Given the description of an element on the screen output the (x, y) to click on. 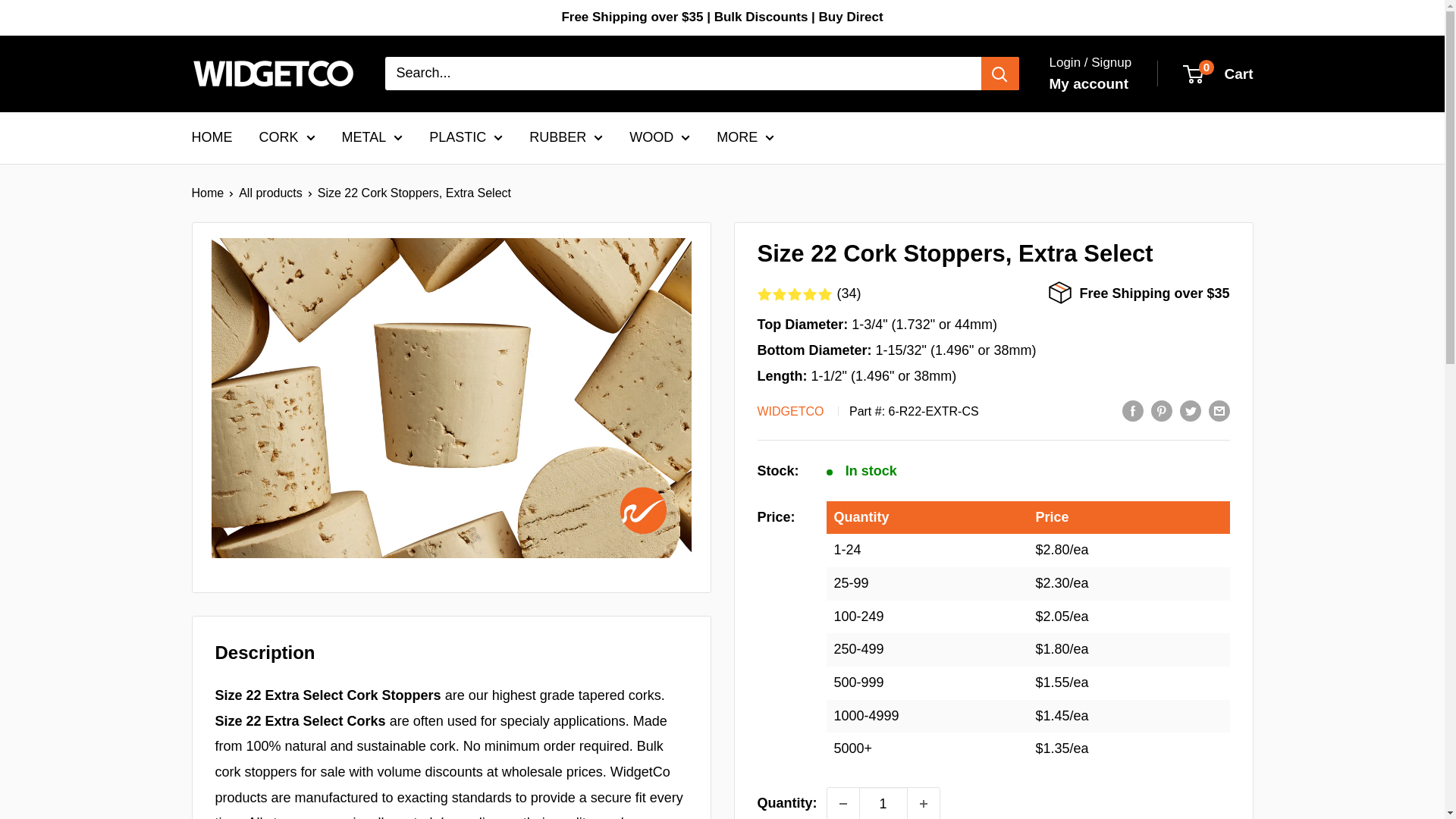
1 (883, 803)
Increase quantity by 1 (923, 803)
Decrease quantity by 1 (843, 803)
